Given the description of an element on the screen output the (x, y) to click on. 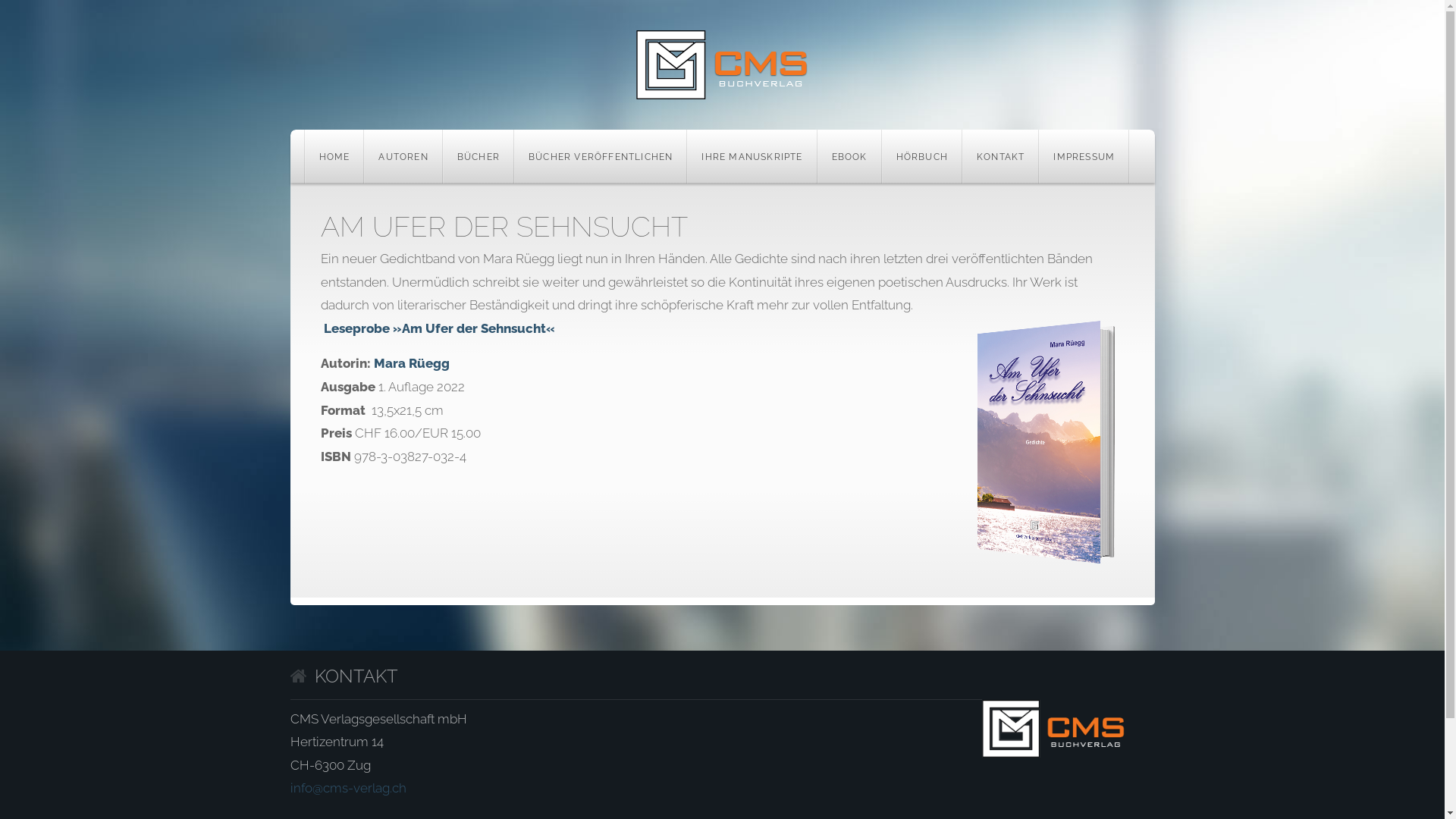
info@cms-verlag.ch Element type: text (347, 787)
EBOOK Element type: text (849, 156)
AUTOREN Element type: text (402, 156)
KONTAKT Element type: text (1000, 156)
IHRE MANUSKRIPTE Element type: text (751, 156)
HOME Element type: text (333, 156)
IMPRESSUM Element type: text (1083, 156)
